Given the description of an element on the screen output the (x, y) to click on. 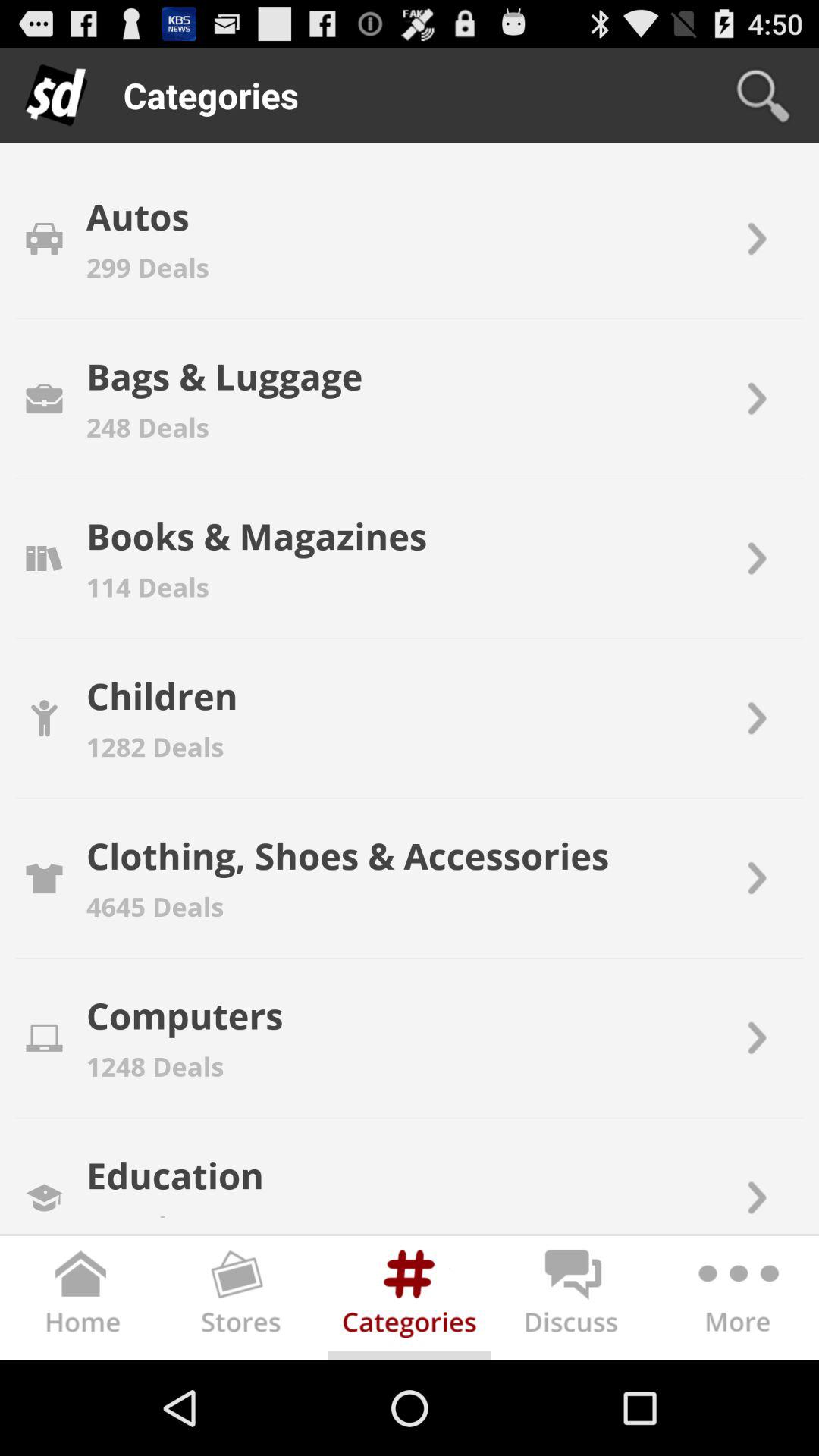
launch the education app (174, 1175)
